Given the description of an element on the screen output the (x, y) to click on. 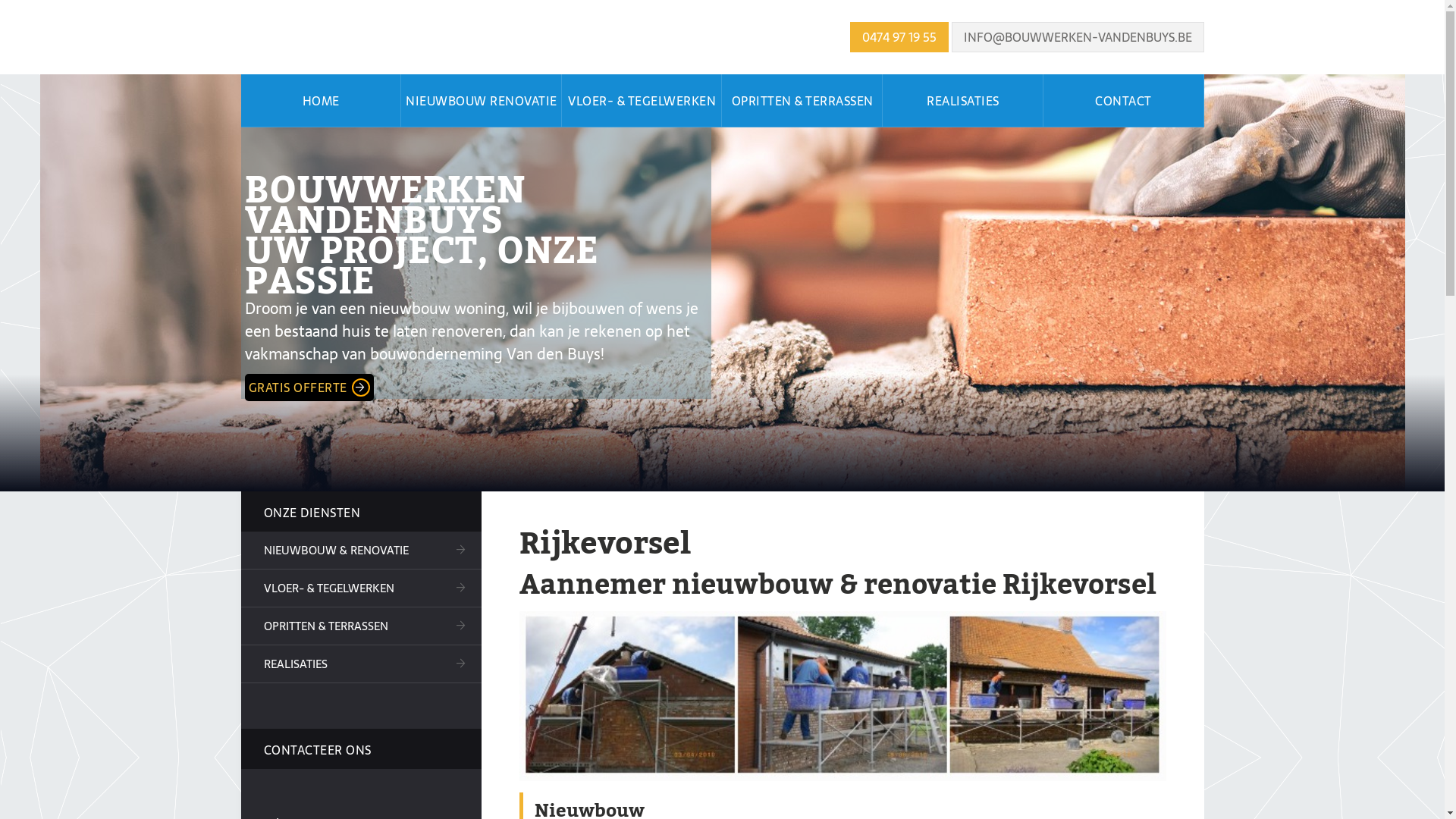
NIEUWBOUW RENOVATIE Element type: text (481, 100)
NIEUWBOUW & RENOVATIE Element type: text (361, 550)
REALISATIES Element type: text (361, 664)
HOME Element type: text (321, 100)
CONTACT Element type: text (1123, 100)
0474 97 19 55 Element type: text (898, 36)
VLOER- & TEGELWERKEN Element type: text (641, 100)
REALISATIES Element type: text (962, 100)
INFO@BOUWWERKEN-VANDENBUYS.BE Element type: text (1076, 36)
VLOER- & TEGELWERKEN Element type: text (361, 588)
GRATIS OFFERTE Element type: text (308, 387)
OPRITTEN & TERRASSEN Element type: text (801, 100)
OPRITTEN & TERRASSEN Element type: text (361, 626)
